Given the description of an element on the screen output the (x, y) to click on. 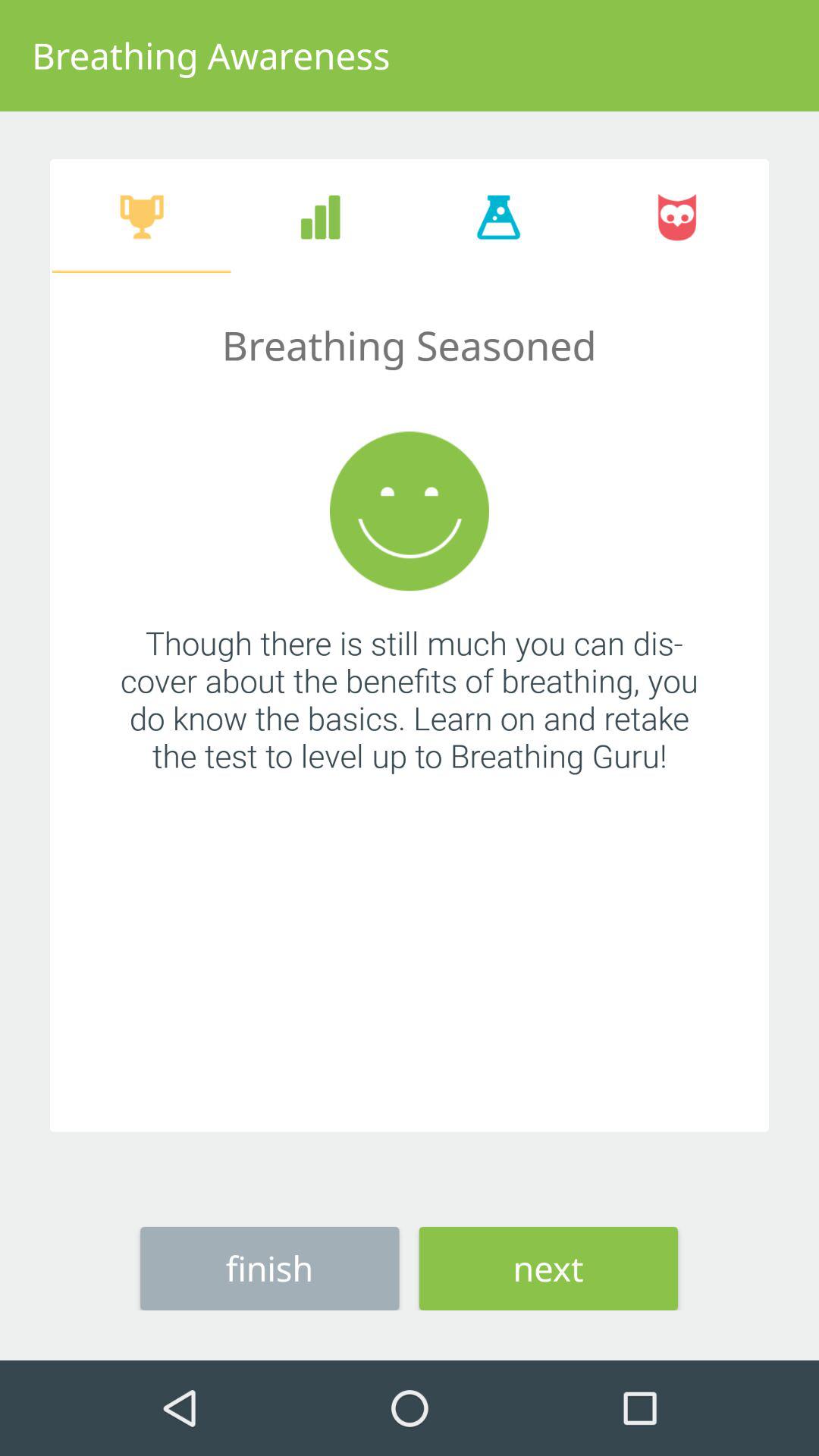
click the button at the bottom left corner (269, 1268)
